Given the description of an element on the screen output the (x, y) to click on. 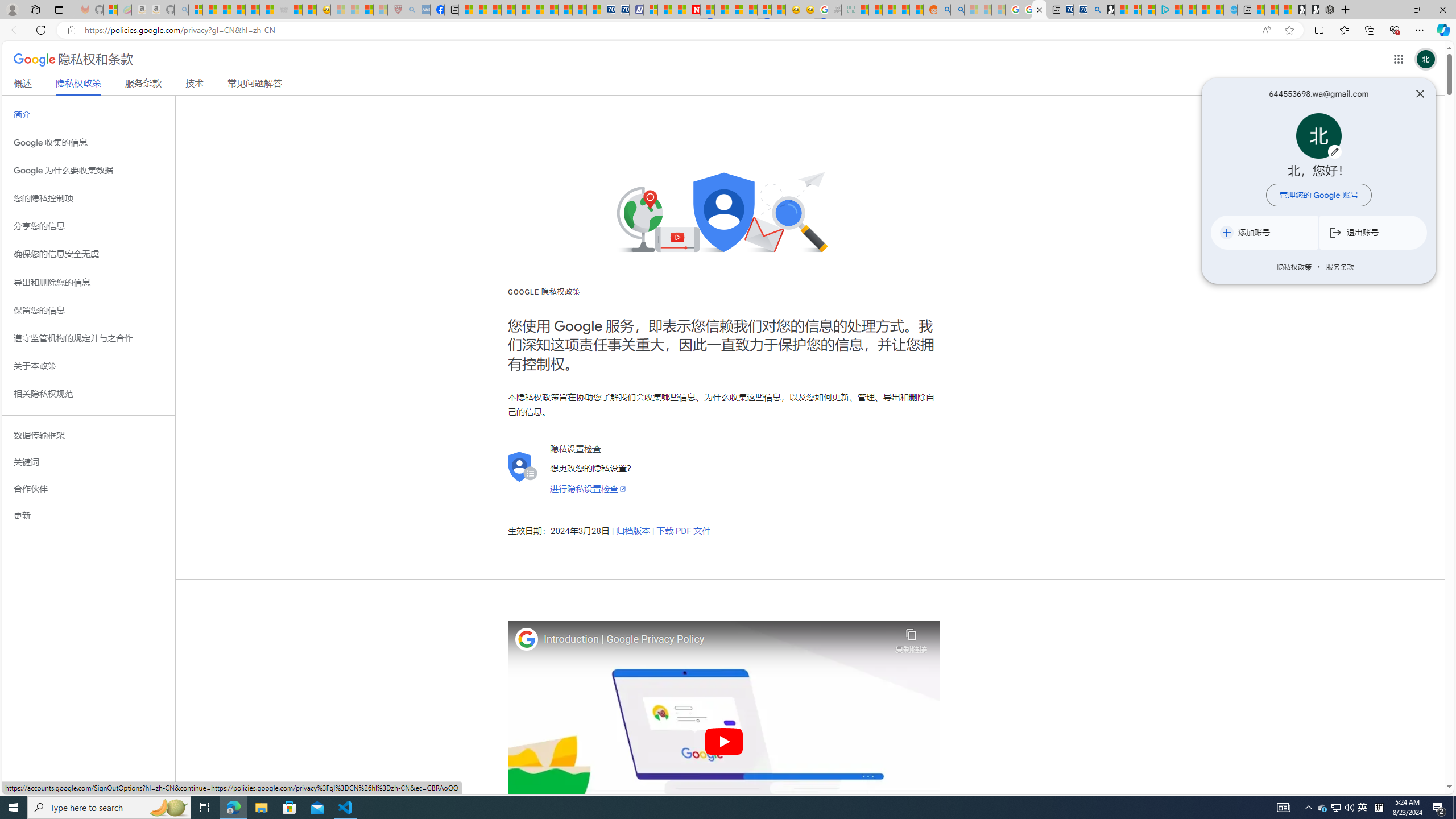
Home | Sky Blue Bikes - Sky Blue Bikes (1229, 9)
